Given the description of an element on the screen output the (x, y) to click on. 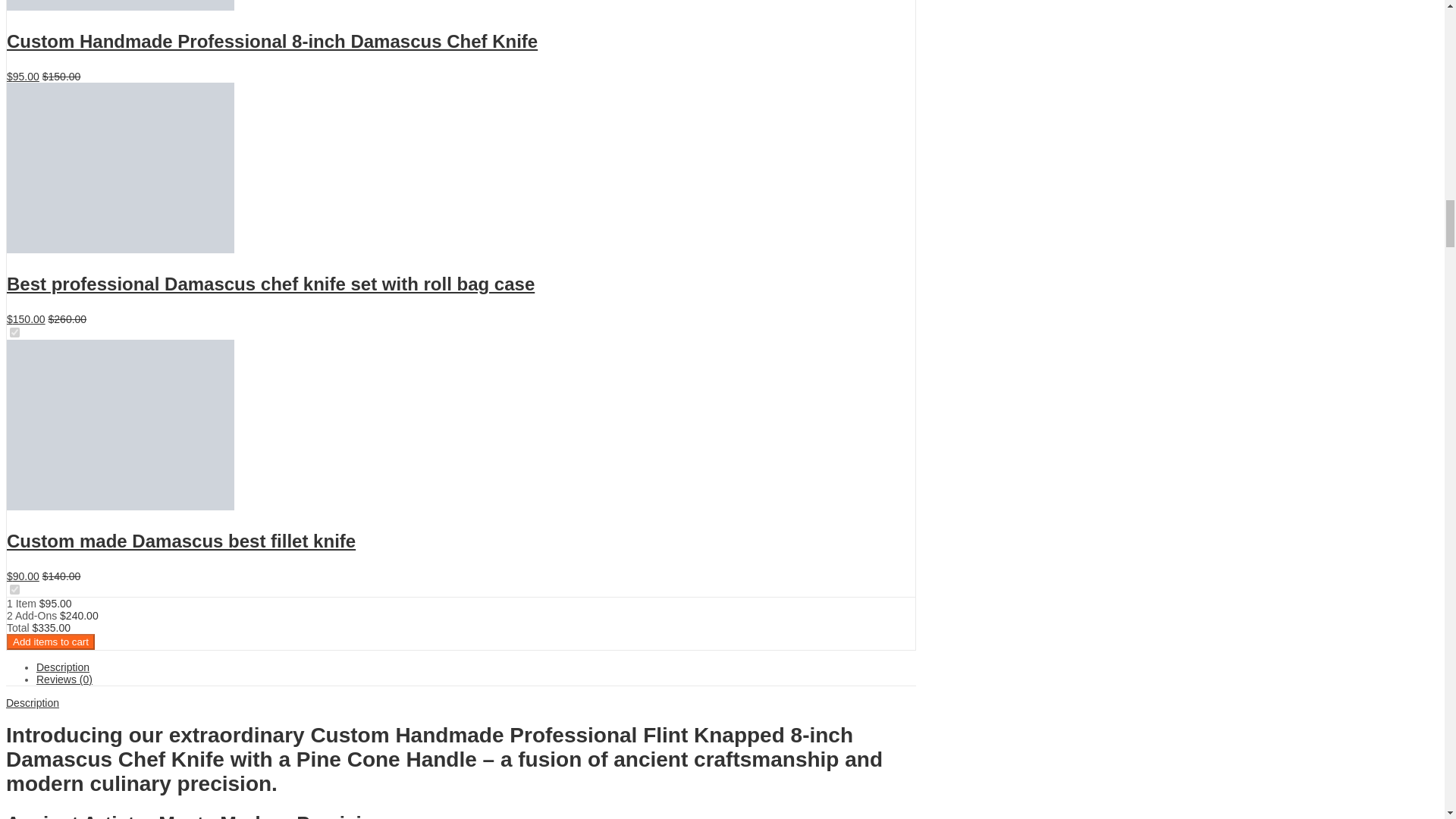
on (15, 589)
on (15, 332)
